Given the description of an element on the screen output the (x, y) to click on. 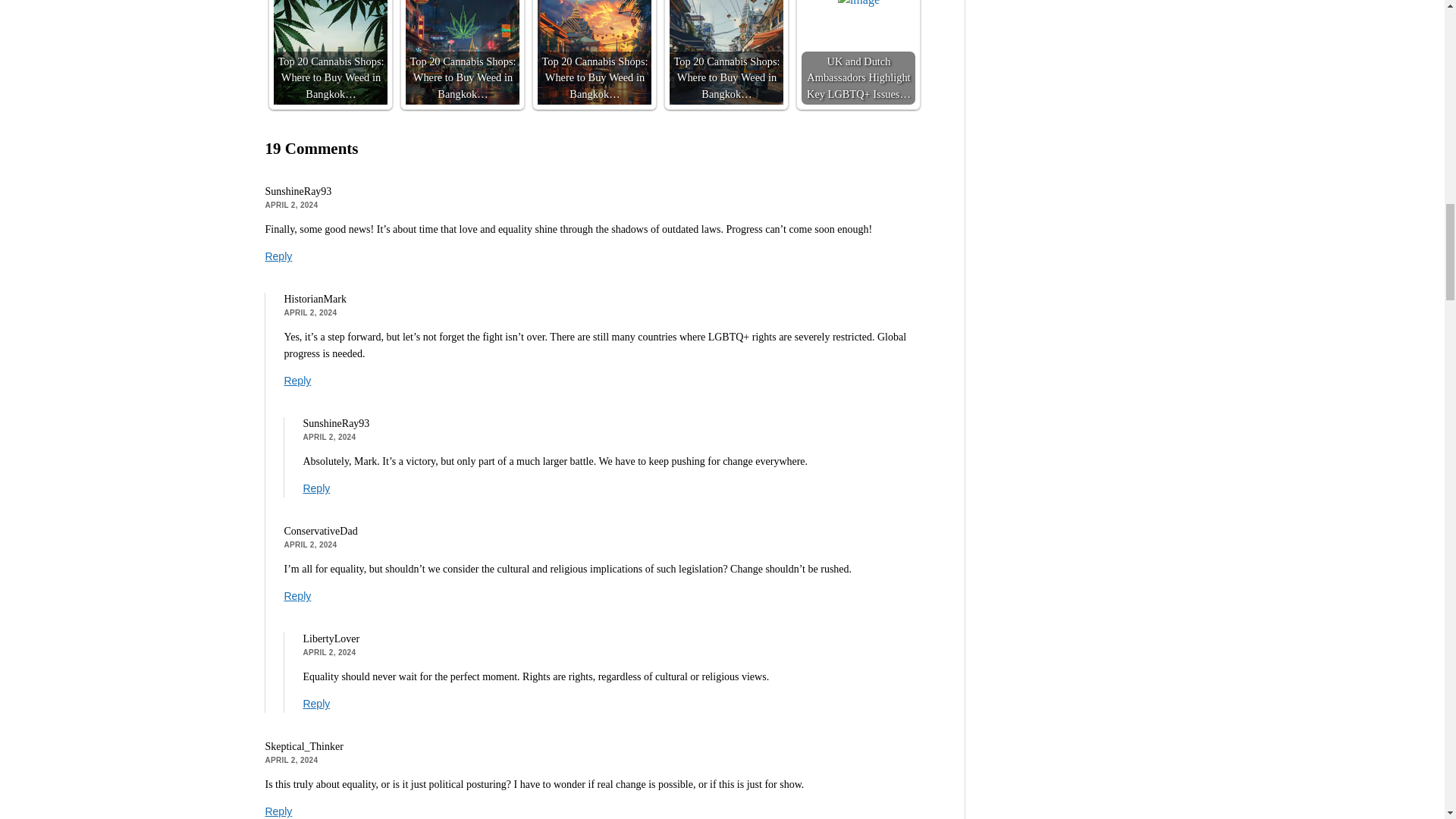
Reply (316, 488)
Reply (297, 380)
Reply (316, 703)
Reply (278, 811)
Reply (297, 595)
Reply (278, 256)
